Given the description of an element on the screen output the (x, y) to click on. 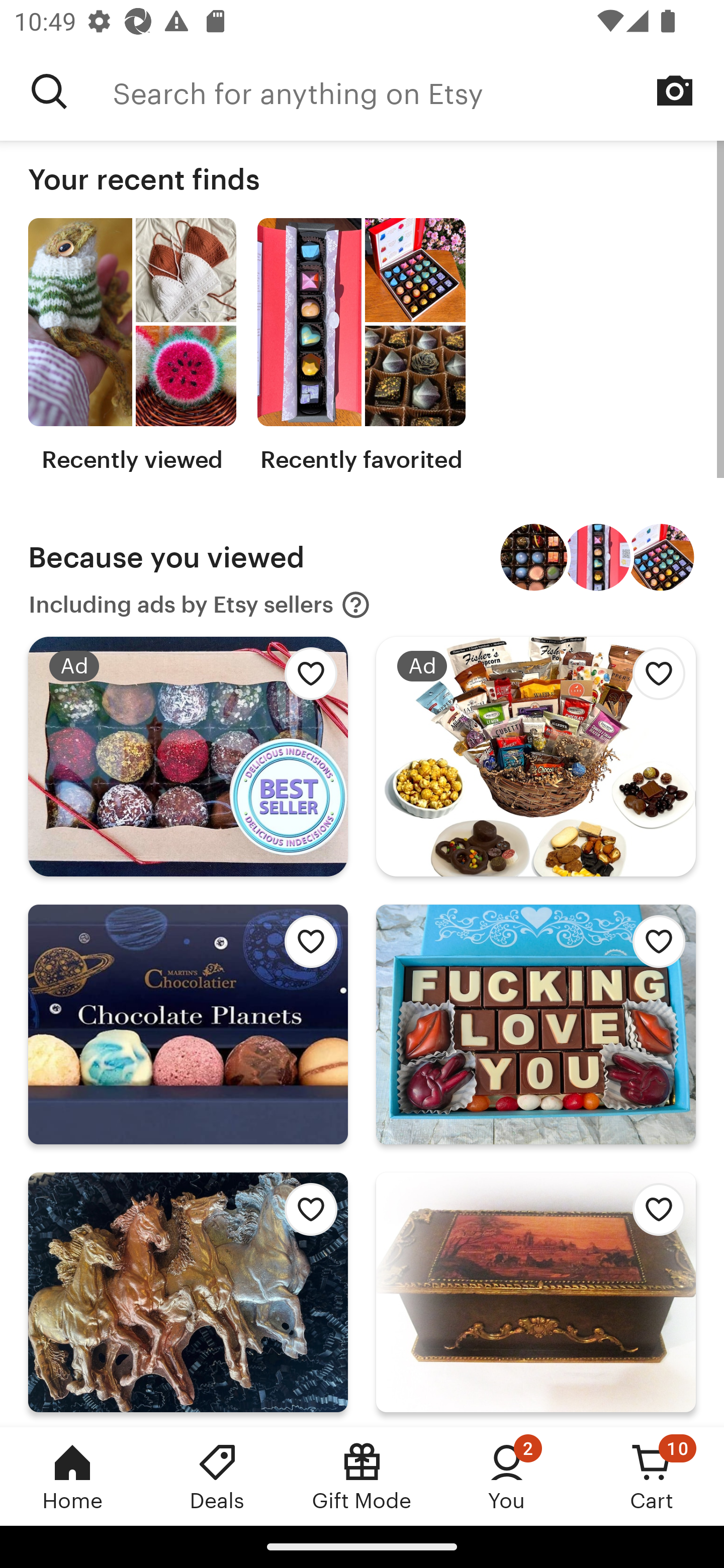
Search for anything on Etsy (49, 91)
Search by image (674, 90)
Search for anything on Etsy (418, 91)
Recently viewed (132, 345)
Recently favorited (361, 345)
Including ads by Etsy sellers (199, 604)
Deals (216, 1475)
Gift Mode (361, 1475)
You, 2 new notifications You (506, 1475)
Cart, 10 new notifications Cart (651, 1475)
